Given the description of an element on the screen output the (x, y) to click on. 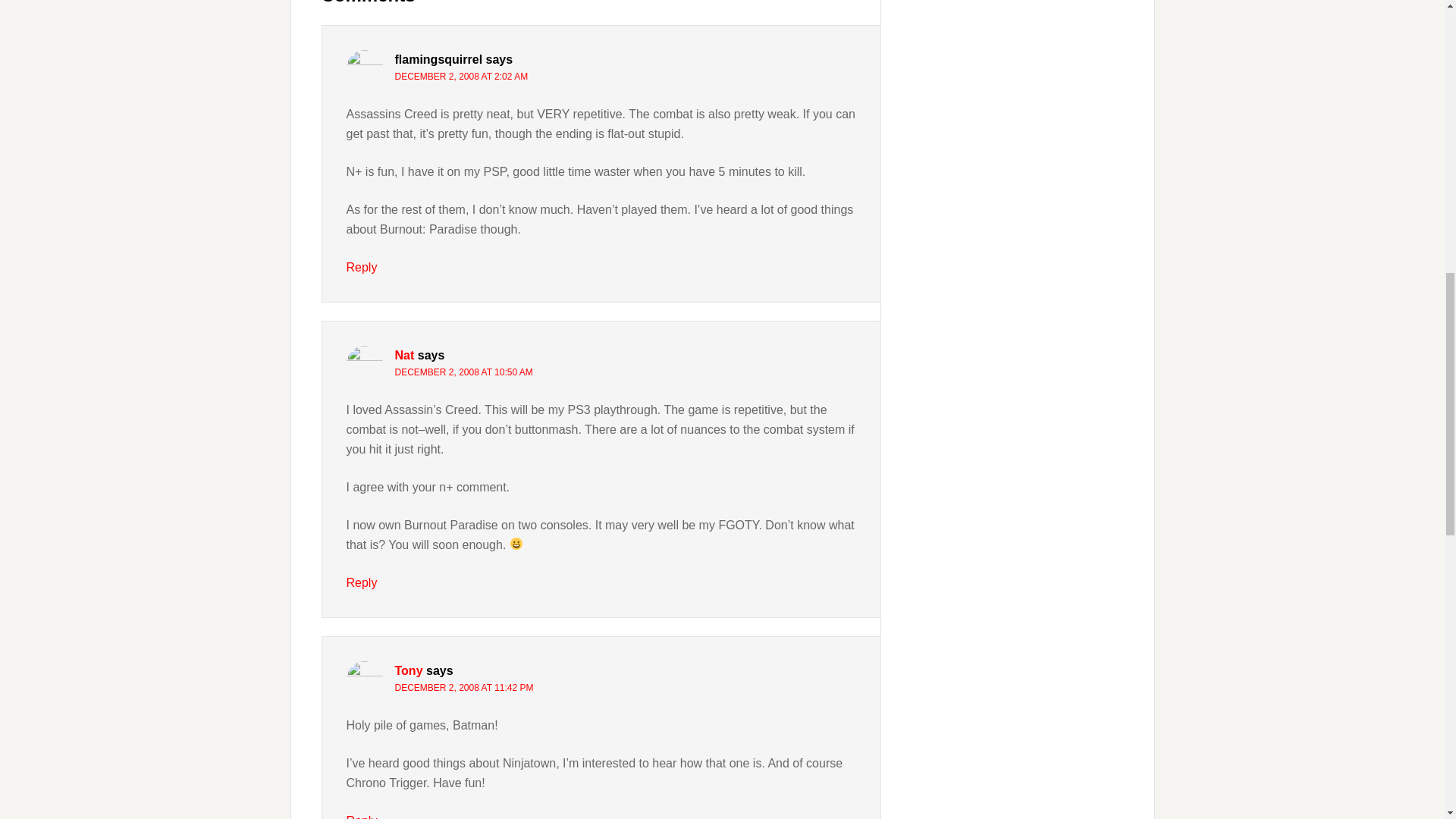
DECEMBER 2, 2008 AT 11:42 PM (463, 687)
DECEMBER 2, 2008 AT 10:50 AM (463, 371)
Reply (361, 582)
DECEMBER 2, 2008 AT 2:02 AM (460, 76)
Nat (403, 354)
Tony (408, 670)
Reply (361, 816)
Reply (361, 267)
